Given the description of an element on the screen output the (x, y) to click on. 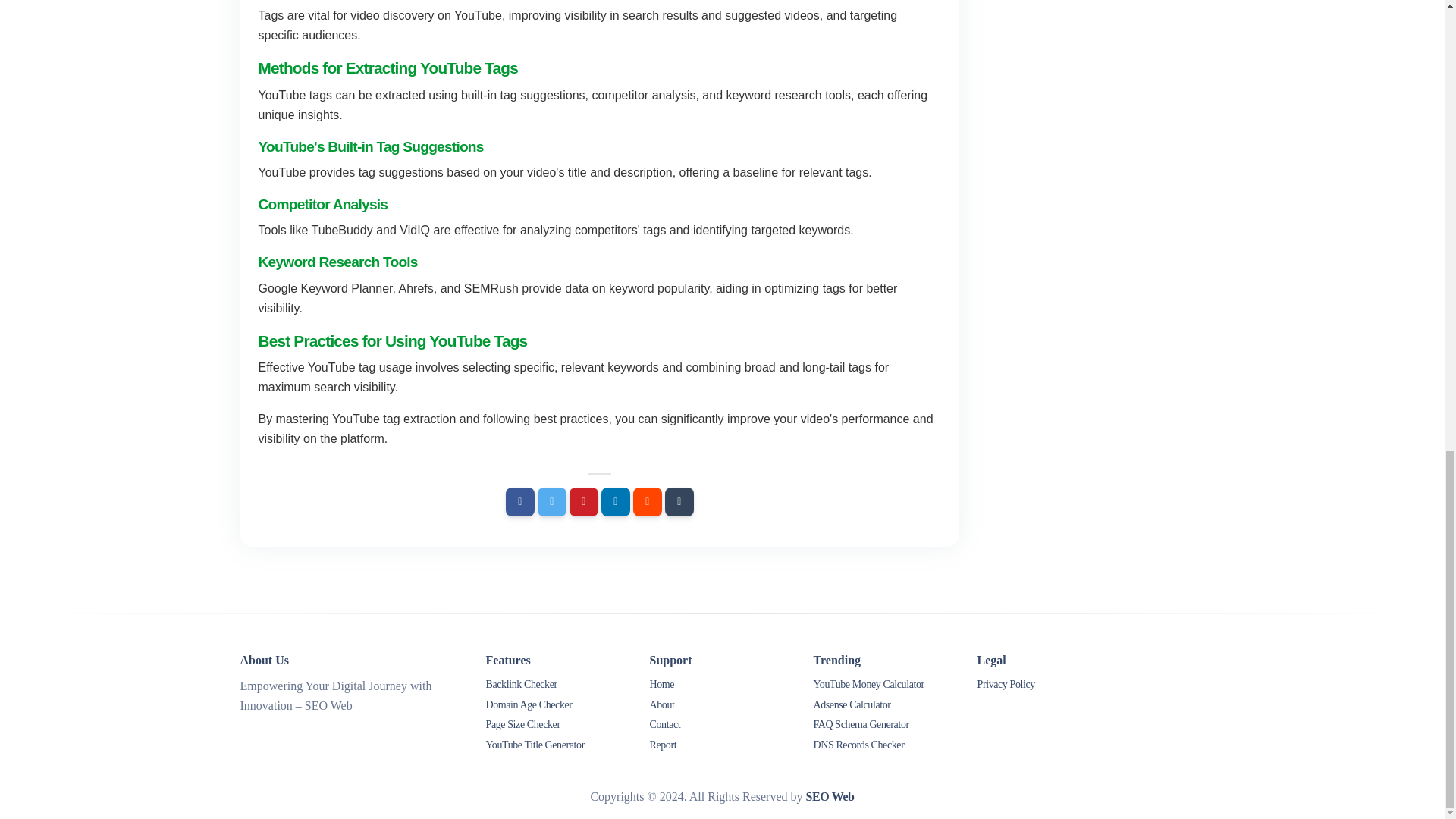
Page Size Checker (557, 726)
Backlink Checker (557, 686)
Home (721, 686)
About (721, 706)
Home (721, 686)
Backlink Checker (557, 686)
Domain Age Checker (557, 706)
Domain Age Checker (557, 706)
YouTube Title Generator (557, 746)
Advertisement (1090, 51)
Page Size Checker (557, 726)
YouTube Title Generator (557, 746)
Contact (721, 726)
